Given the description of an element on the screen output the (x, y) to click on. 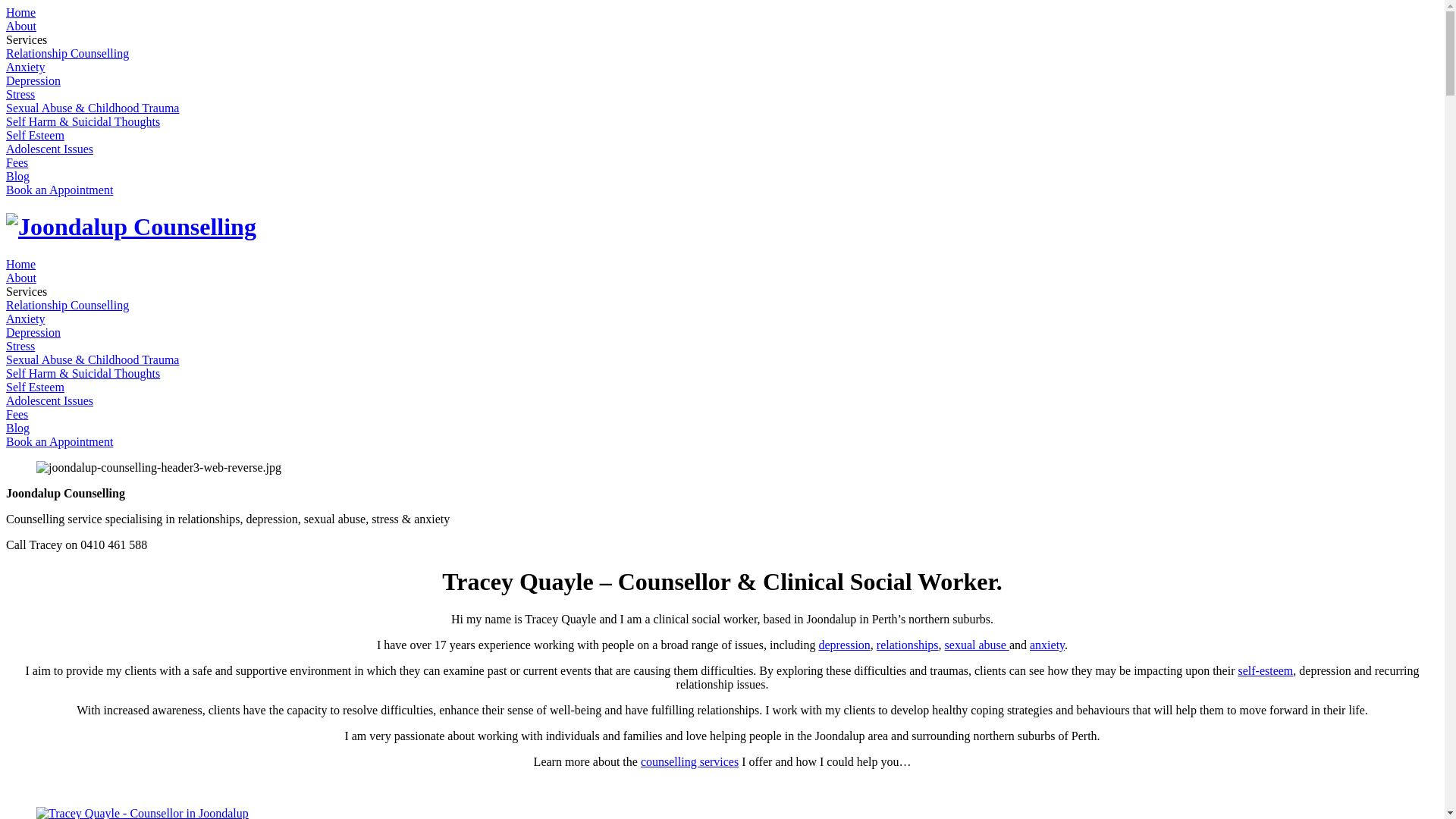
About Element type: text (21, 277)
Anxiety Element type: text (25, 66)
Stress Element type: text (20, 93)
Relationship Counselling Element type: text (67, 304)
sexual abuse  Element type: text (976, 644)
relationships Element type: text (907, 644)
Depression Element type: text (33, 332)
Relationship Counselling Element type: text (67, 53)
Adolescent Issues Element type: text (49, 400)
self-esteem Element type: text (1264, 670)
Book an Appointment Element type: text (59, 189)
Self Esteem Element type: text (35, 134)
counselling services Element type: text (689, 761)
anxiety Element type: text (1046, 644)
Fees Element type: text (17, 162)
Self Esteem Element type: text (35, 386)
Home Element type: text (20, 263)
depression Element type: text (843, 644)
Sexual Abuse & Childhood Trauma Element type: text (92, 107)
Depression Element type: text (33, 80)
Book an Appointment Element type: text (59, 441)
Blog Element type: text (17, 175)
Sexual Abuse & Childhood Trauma Element type: text (92, 359)
Adolescent Issues Element type: text (49, 148)
About Element type: text (21, 25)
Self Harm & Suicidal Thoughts Element type: text (83, 121)
Stress Element type: text (20, 345)
Anxiety Element type: text (25, 318)
Fees Element type: text (17, 413)
Self Harm & Suicidal Thoughts Element type: text (83, 373)
Home Element type: text (20, 12)
Blog Element type: text (17, 427)
